Given the description of an element on the screen output the (x, y) to click on. 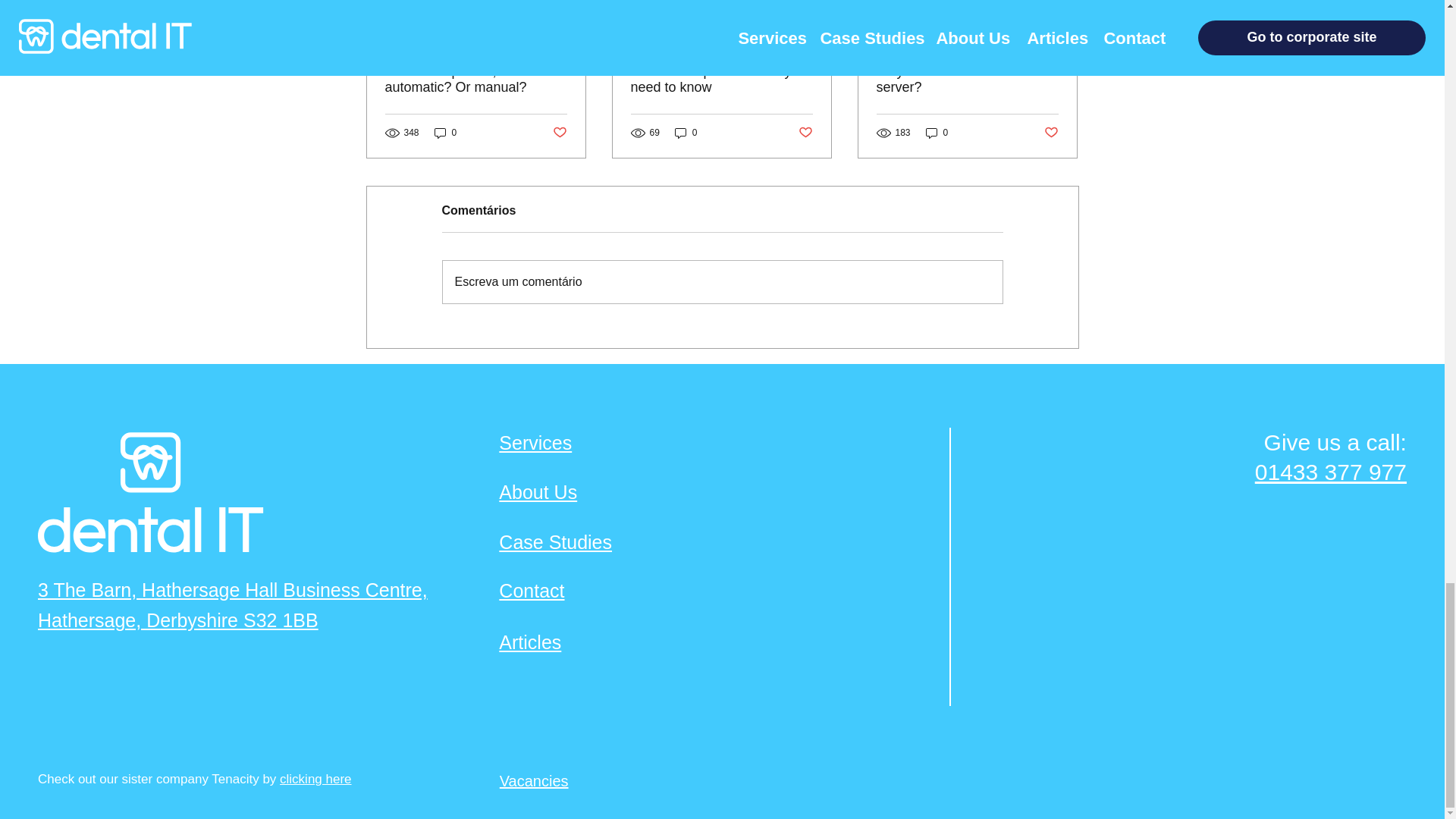
Case Studies (555, 541)
Services (535, 442)
Post not marked as liked (804, 132)
0 (685, 133)
Post not marked as liked (1050, 132)
Why do I need a dedicated server? (967, 79)
Post not marked as liked (558, 132)
About Us (537, 491)
Windows updates, automatic? Or manual? (476, 79)
0 (937, 133)
0 (445, 133)
Fibre to the premises: All you need to know (721, 79)
